Given the description of an element on the screen output the (x, y) to click on. 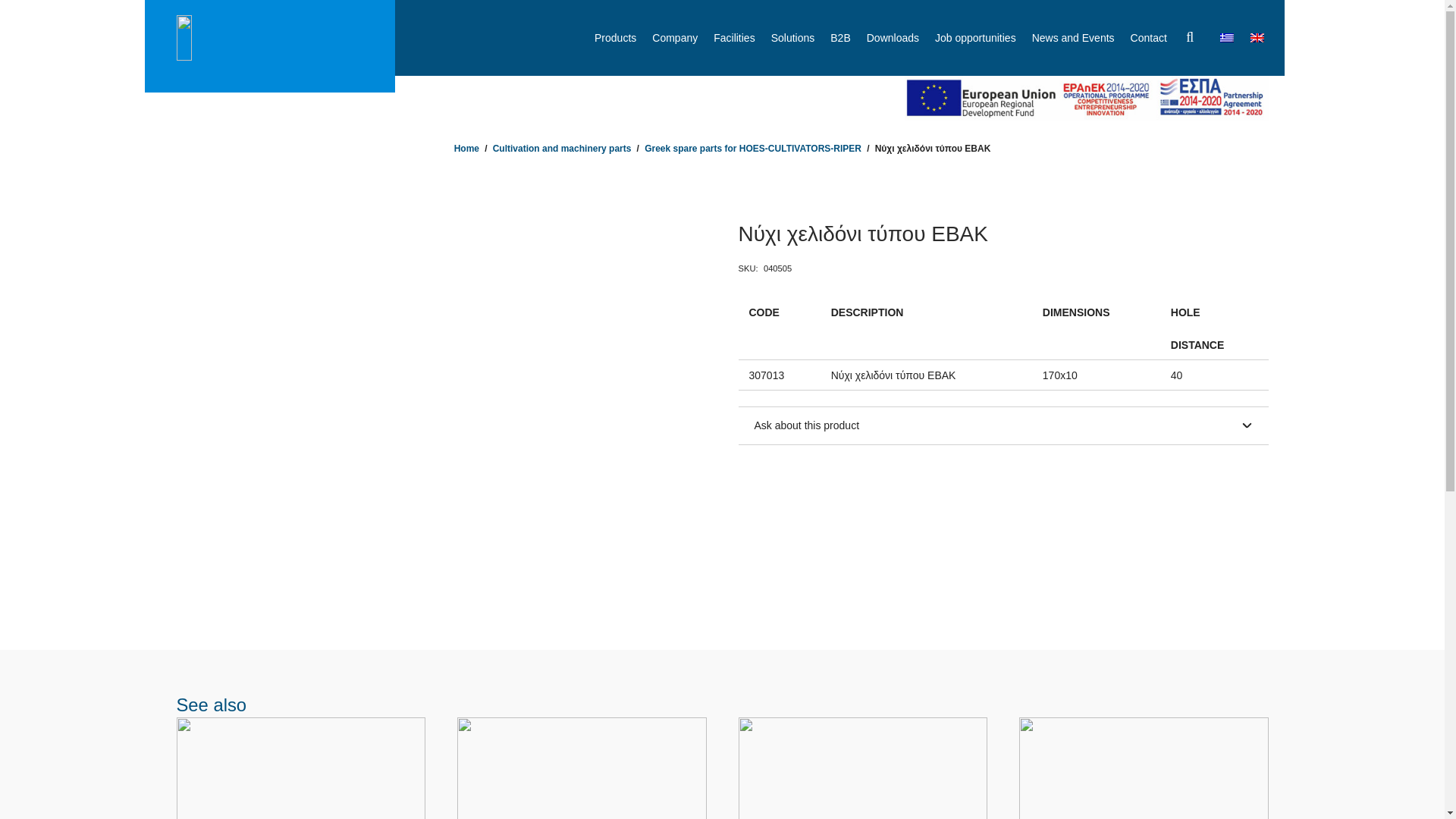
Ask about this product (1003, 425)
